Given the description of an element on the screen output the (x, y) to click on. 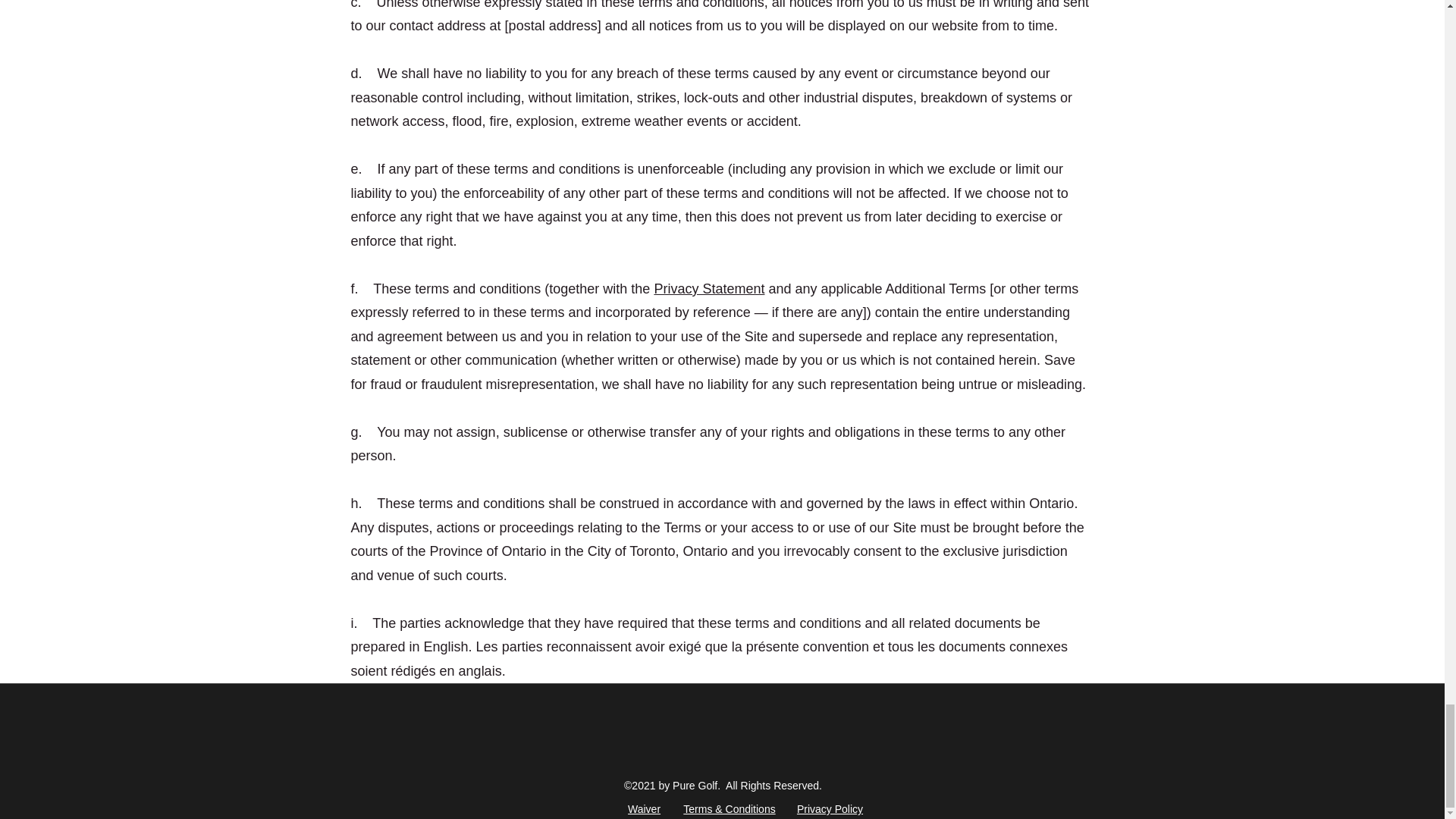
Privacy Statement (708, 287)
Waiver  (645, 808)
Privacy Policy (829, 808)
